Given the description of an element on the screen output the (x, y) to click on. 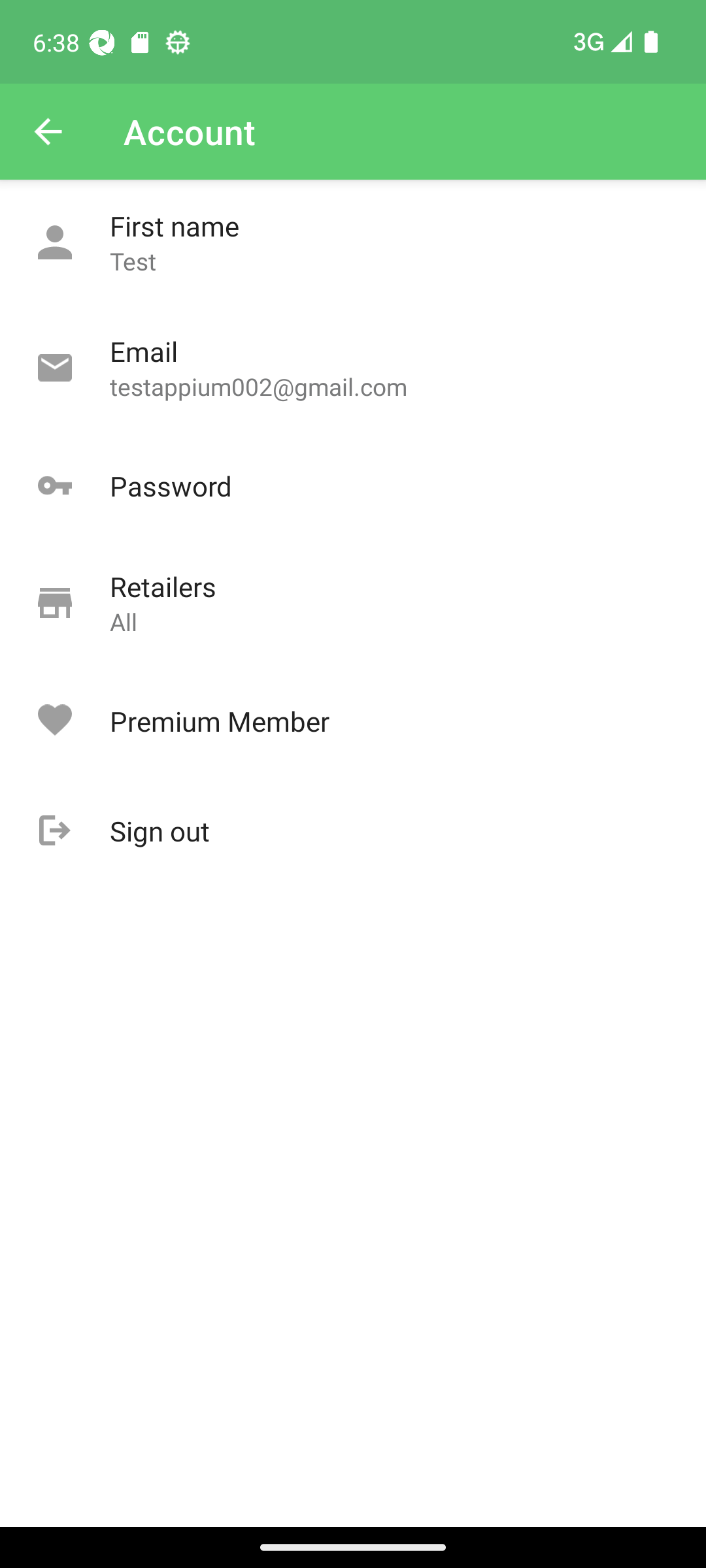
Navigate up (48, 131)
First name Test (353, 242)
Email testappium002@gmail.com (353, 368)
Password (353, 485)
Retailers All (353, 603)
Premium Member (353, 721)
Sign out (353, 830)
